Given the description of an element on the screen output the (x, y) to click on. 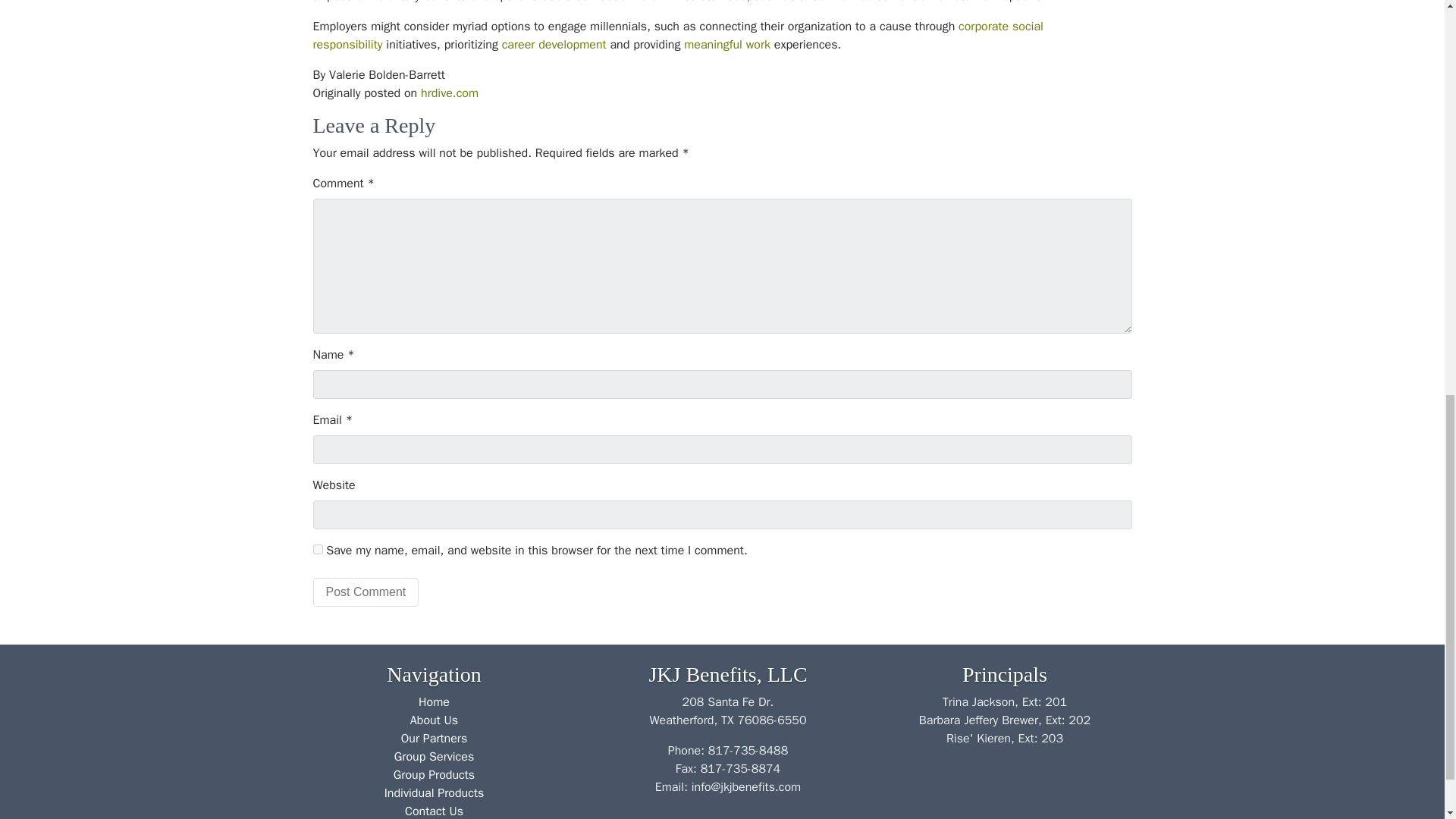
About Us (434, 720)
corporate social responsibility (677, 35)
career development (554, 44)
Group Products (433, 774)
Individual Products (434, 792)
yes (317, 549)
Contact Us (433, 811)
hrdive.com (449, 92)
Our Partners (434, 738)
Group Services (434, 756)
Home (434, 702)
meaningful work (727, 44)
Post Comment (366, 592)
Post Comment (366, 592)
